Given the description of an element on the screen output the (x, y) to click on. 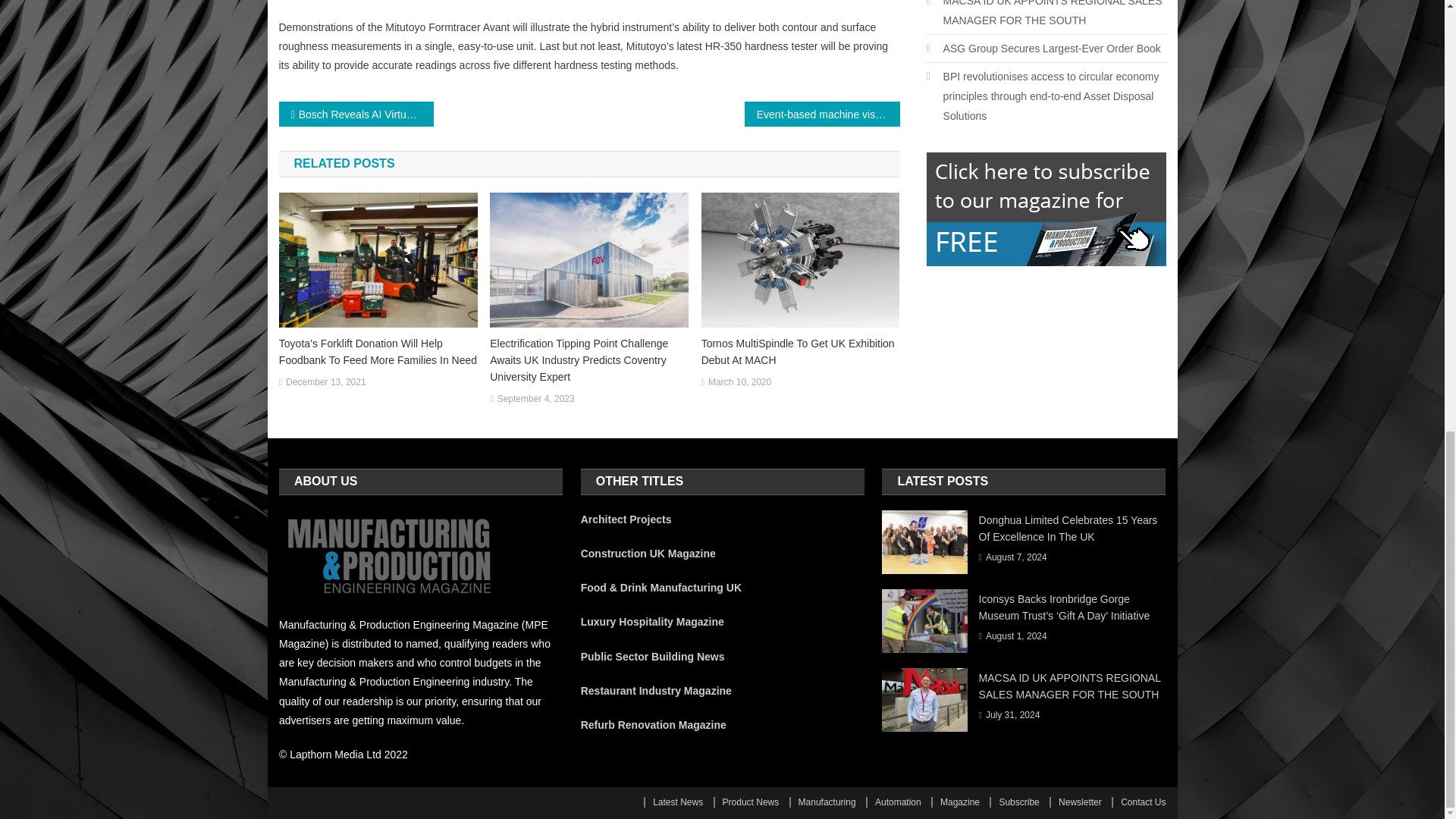
March 10, 2020 (739, 382)
Event-based machine vision in Industry 4.0 applications (821, 113)
December 13, 2021 (325, 382)
Bosch Reveals AI Virtual Visor For Improved Driver Safety (356, 113)
September 4, 2023 (536, 399)
Tornos MultiSpindle To Get UK Exhibition Debut At MACH (800, 351)
